Given the description of an element on the screen output the (x, y) to click on. 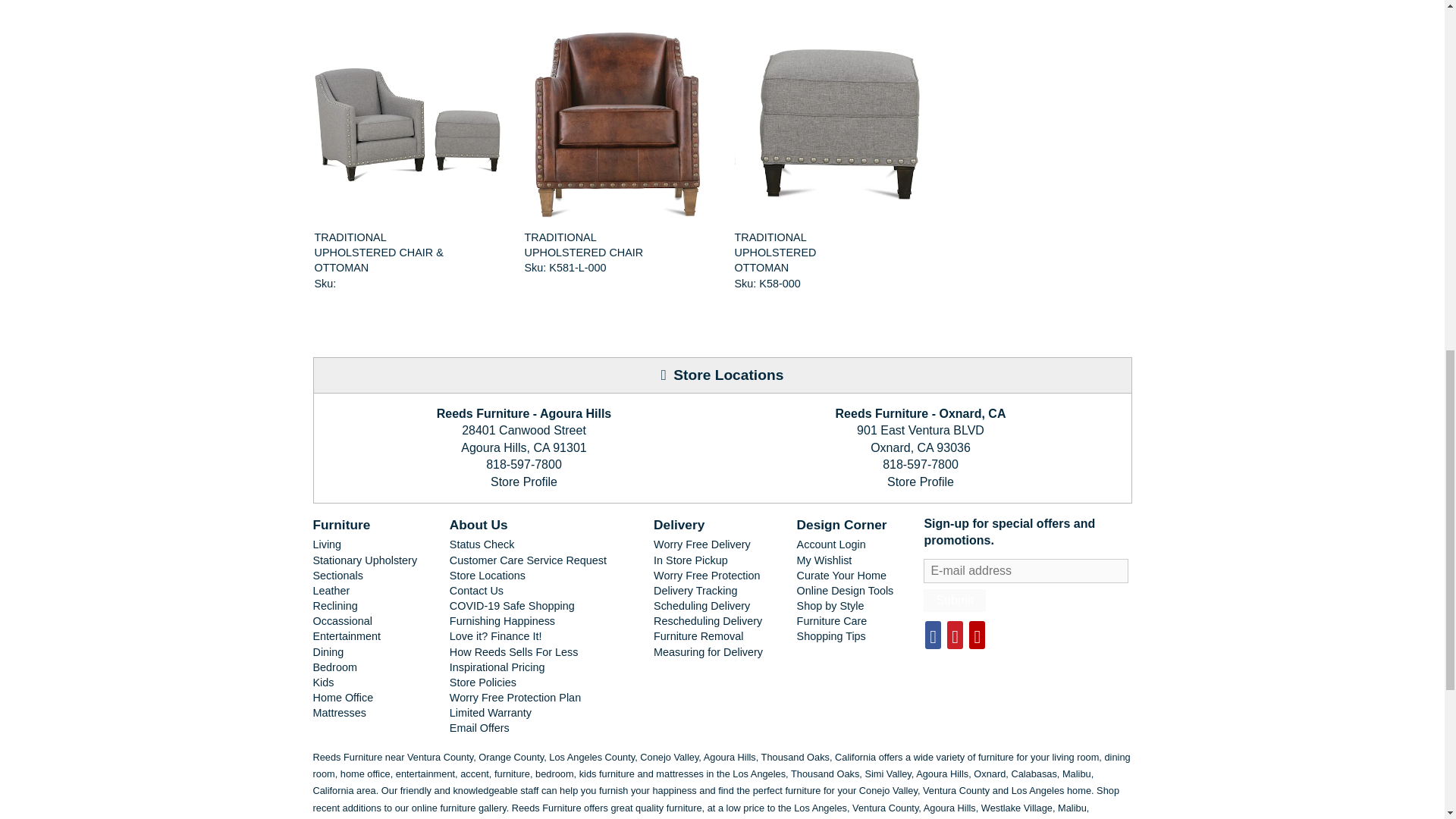
Click to view this Item. (801, 252)
Click to view this Item. (381, 252)
Click to view this Item. (592, 245)
Submit (954, 599)
Click to view this Item. (617, 124)
Click to view this Item. (826, 124)
Click to view this Item. (406, 124)
